Given the description of an element on the screen output the (x, y) to click on. 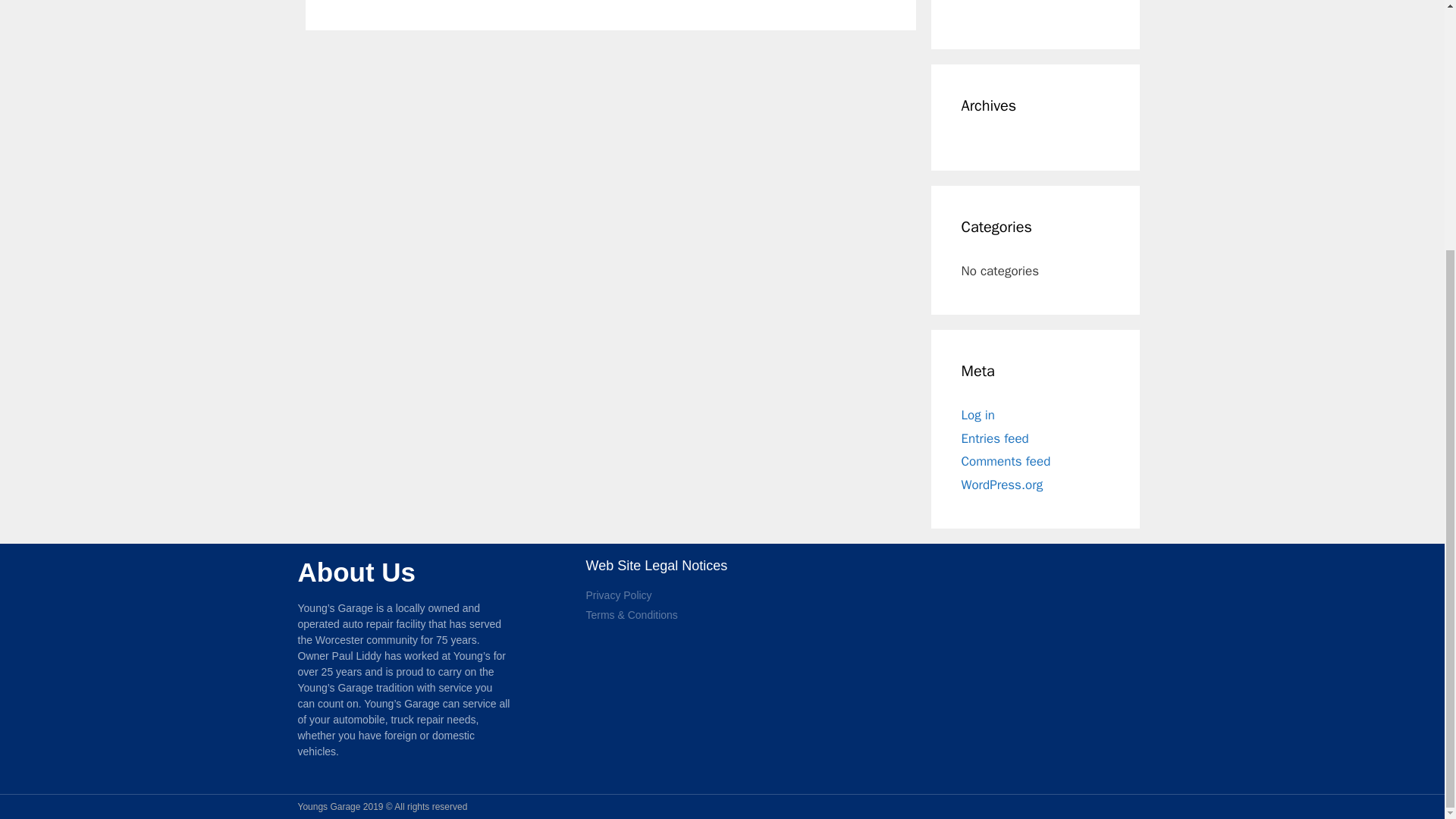
400 Chandler Street, Worcester, MA 01602 (1010, 672)
Privacy Policy (722, 595)
Comments feed (1005, 461)
Log in (977, 415)
WordPress.org (1001, 483)
Entries feed (994, 438)
